Given the description of an element on the screen output the (x, y) to click on. 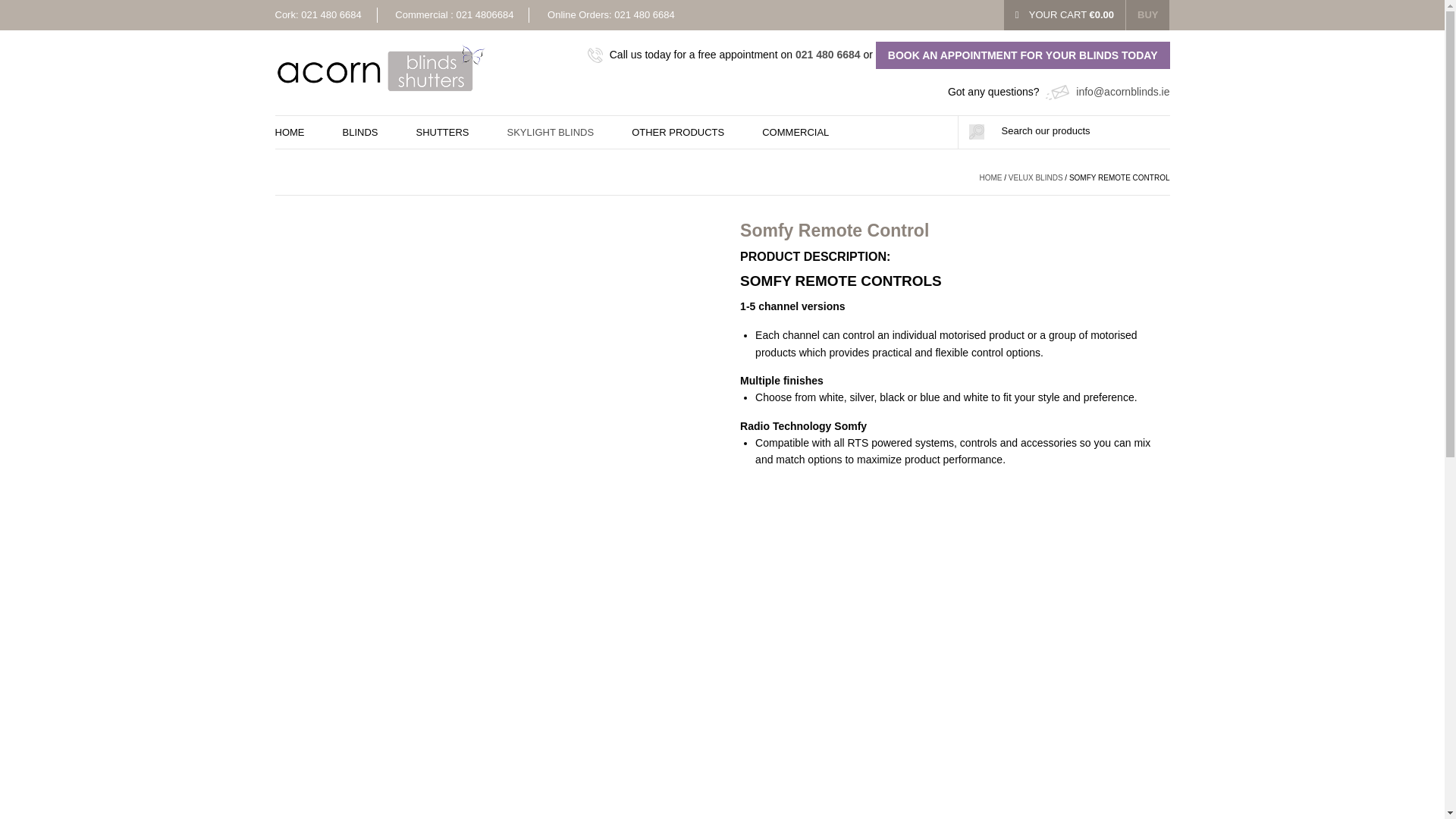
021 4806684 (485, 14)
021 480 6684 (331, 14)
021 480 6684 (644, 14)
BUY (1147, 15)
